Given the description of an element on the screen output the (x, y) to click on. 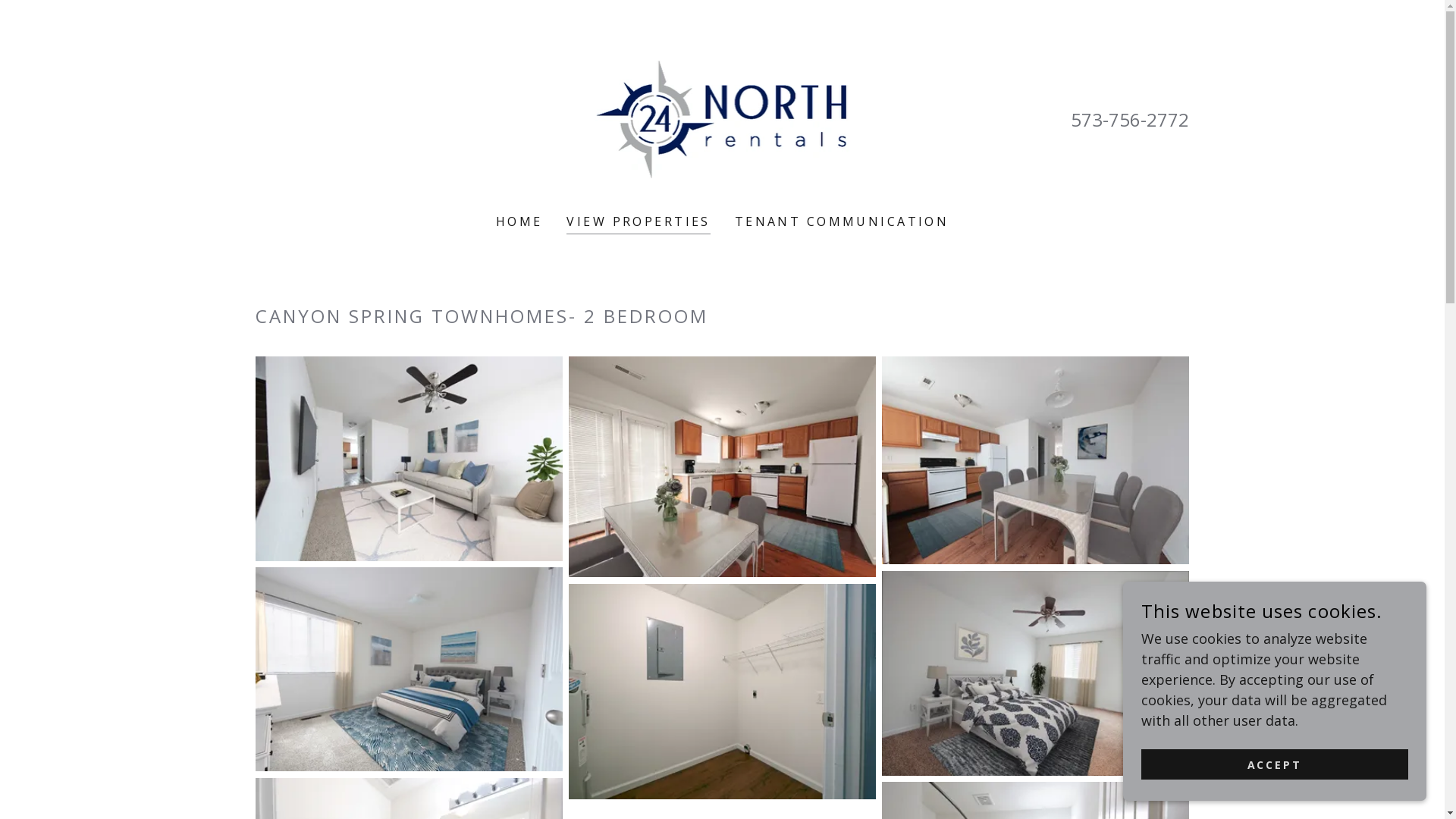
ACCEPT Element type: text (1274, 764)
TENANT COMMUNICATION Element type: text (841, 221)
HOME Element type: text (519, 221)
24 North Rentals Element type: hover (722, 116)
573-756-2772 Element type: text (1129, 118)
VIEW PROPERTIES Element type: text (637, 223)
